Given the description of an element on the screen output the (x, y) to click on. 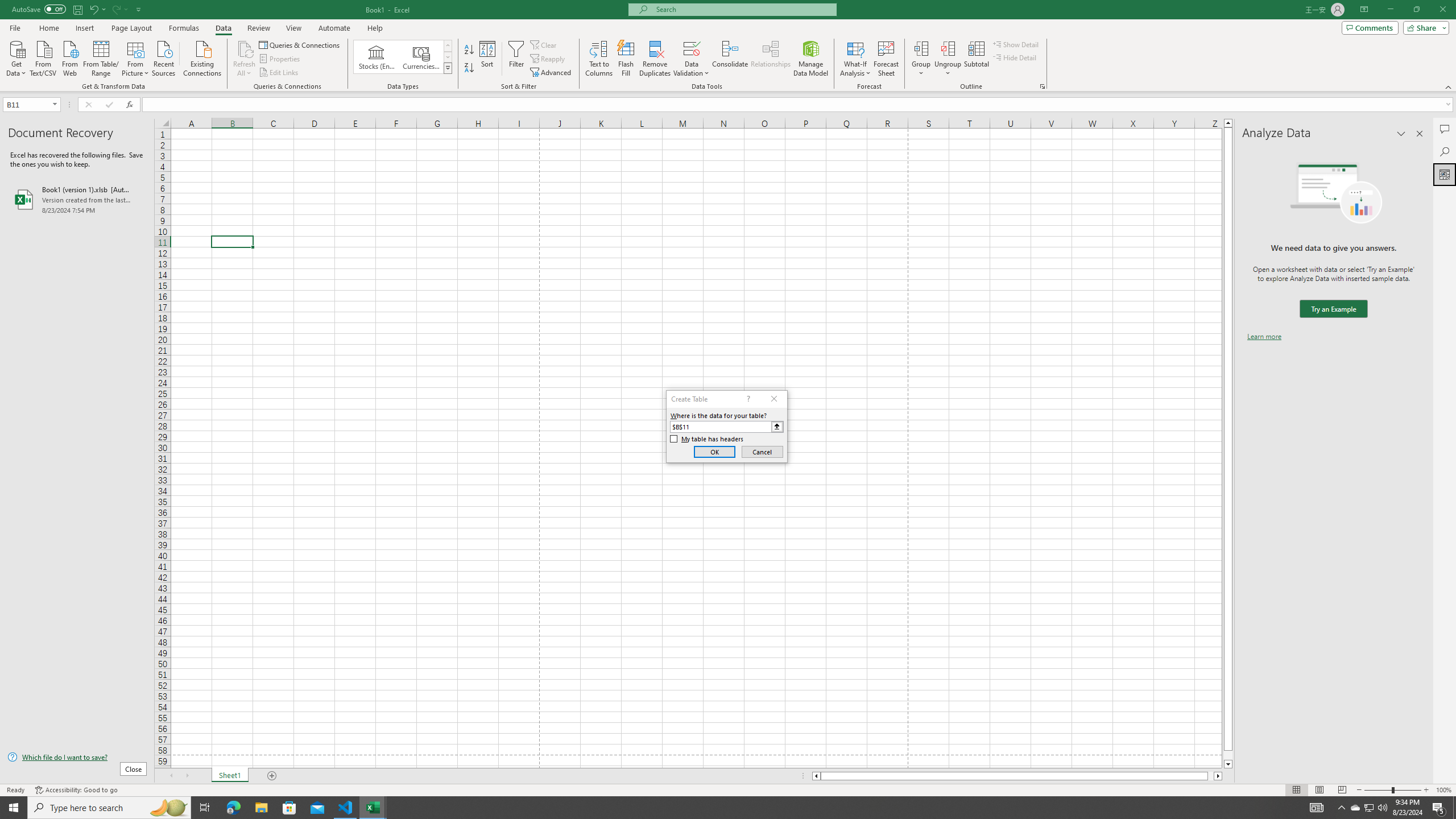
From Table/Range (100, 57)
Advanced... (551, 72)
AutomationID: ConvertToLinkedEntity (403, 56)
Text to Columns... (598, 58)
Task Pane Options (1400, 133)
Relationships (770, 58)
Data Validation... (691, 48)
Flash Fill (625, 58)
Queries & Connections (300, 44)
Filter (515, 58)
Refresh All (244, 48)
